Given the description of an element on the screen output the (x, y) to click on. 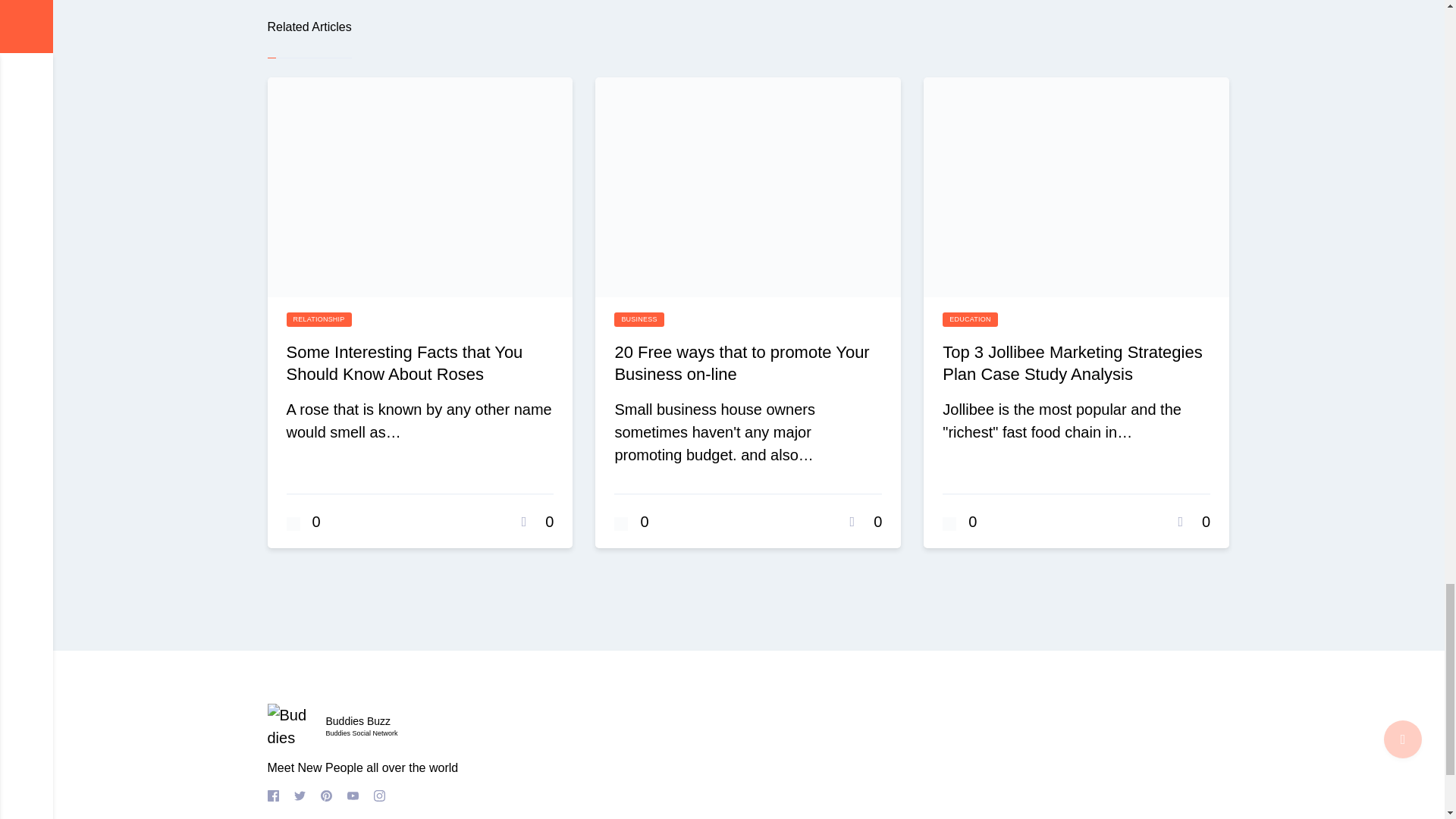
All posts from Business (638, 319)
All posts from Relationship (319, 319)
All posts from Education (969, 319)
